Given the description of an element on the screen output the (x, y) to click on. 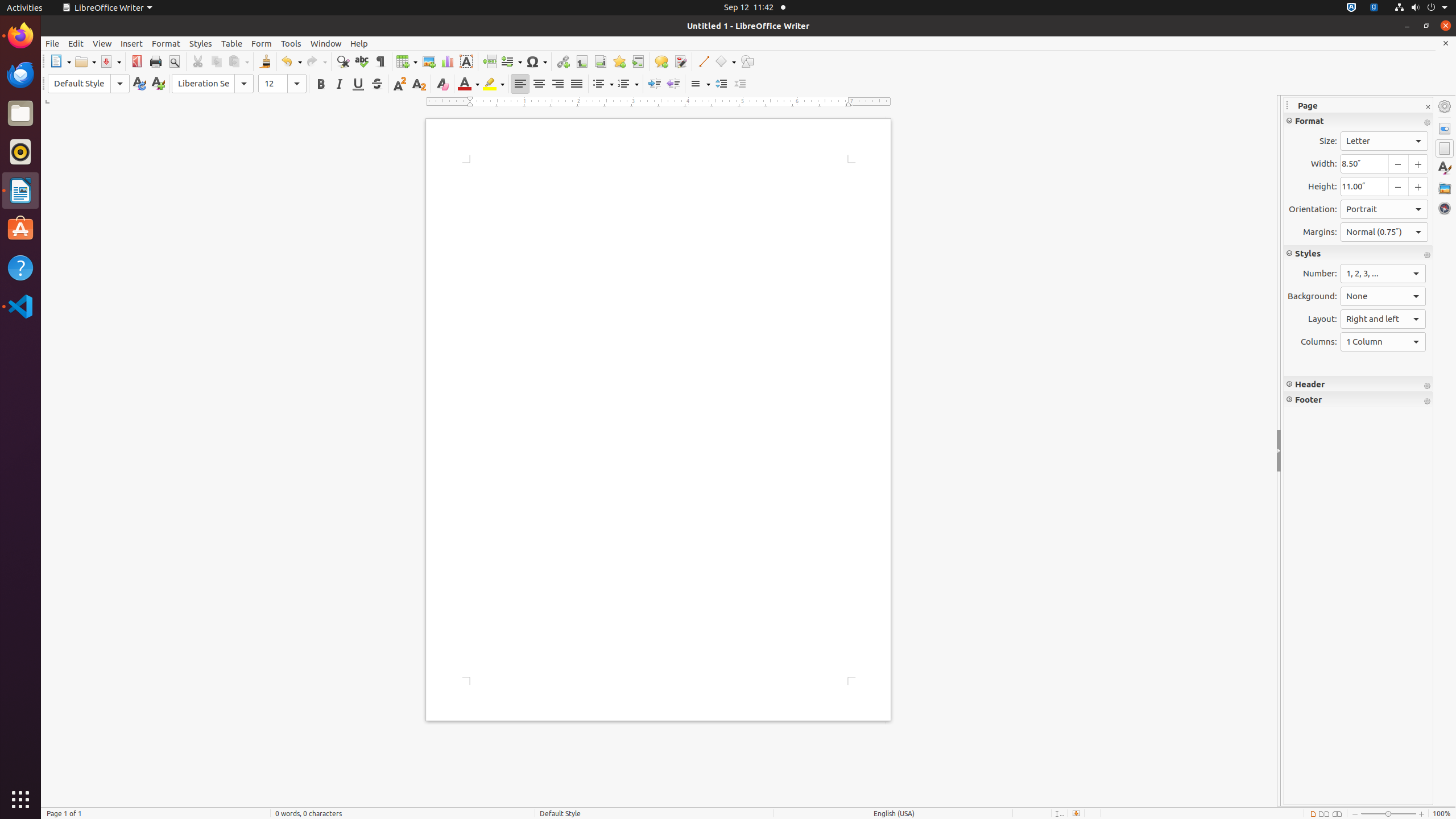
Paste Element type: push-button (237, 61)
Bullets Element type: push-button (602, 83)
Highlight Color Element type: push-button (493, 83)
Font Size Element type: combo-box (282, 83)
Underline Element type: push-button (357, 83)
